Given the description of an element on the screen output the (x, y) to click on. 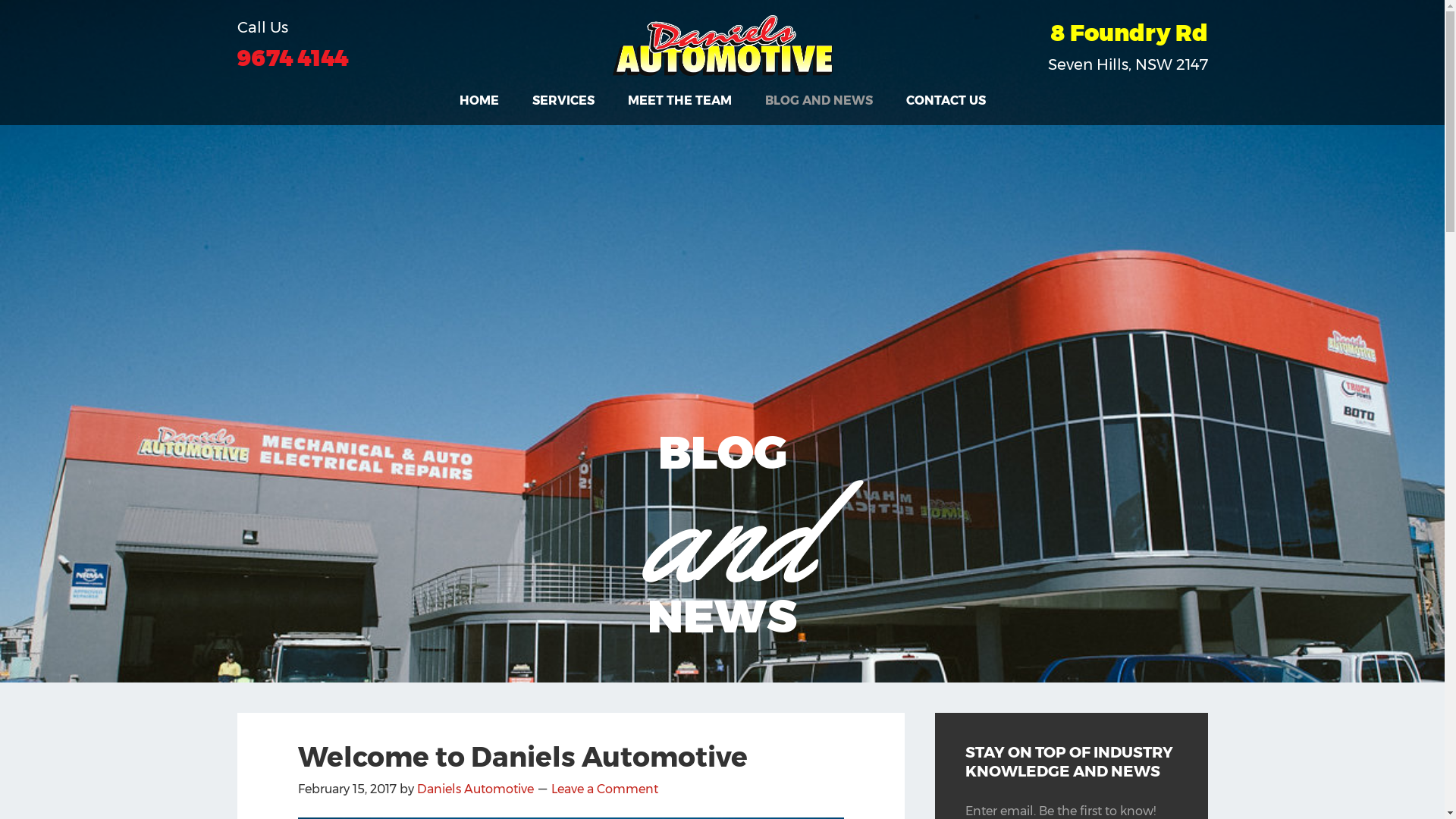
Skip to primary navigation Element type: text (0, 0)
Daniels Automotive Element type: text (721, 45)
Welcome to Daniels Automotive Element type: text (521, 756)
HOME Element type: text (479, 100)
CONTACT US Element type: text (945, 100)
Leave a Comment Element type: text (603, 788)
Daniels Automotive Element type: text (475, 788)
SERVICES Element type: text (563, 100)
BLOG AND NEWS Element type: text (818, 100)
MEET THE TEAM Element type: text (679, 100)
